Given the description of an element on the screen output the (x, y) to click on. 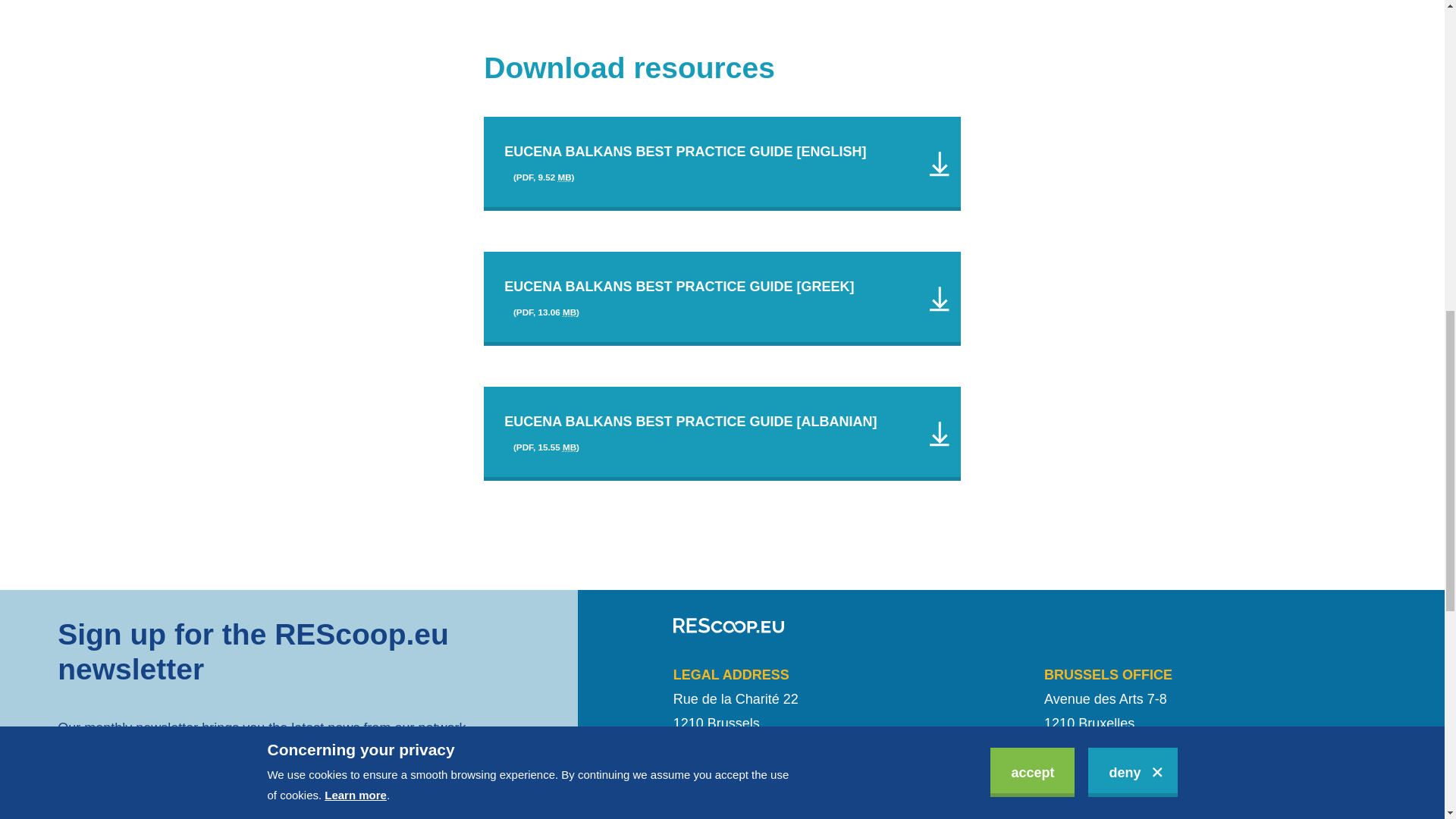
Megabytes (563, 176)
Megabytes (569, 311)
Megabytes (569, 447)
get directions (717, 770)
get directions (1088, 770)
